Given the description of an element on the screen output the (x, y) to click on. 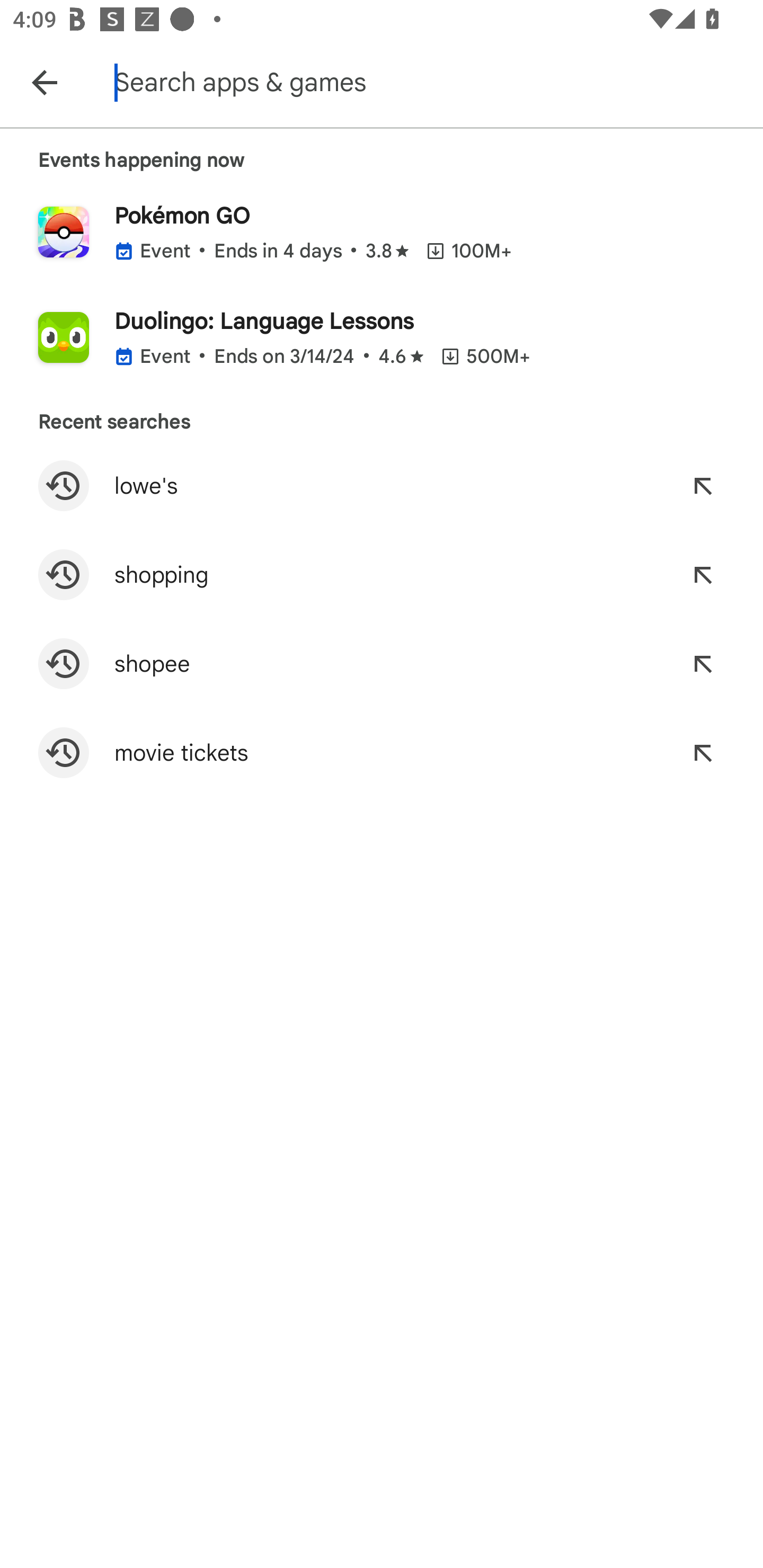
Navigate up (44, 81)
Search apps & games (435, 81)
Search for "lowe's"  Refine search to "lowe's" (381, 484)
Refine search to "lowe's" (702, 484)
Search for "shopping"  Refine search to "shopping" (381, 574)
Refine search to "shopping" (702, 574)
Search for "shopee"  Refine search to "shopee" (381, 663)
Refine search to "shopee" (702, 663)
Refine search to "movie tickets" (702, 752)
